Given the description of an element on the screen output the (x, y) to click on. 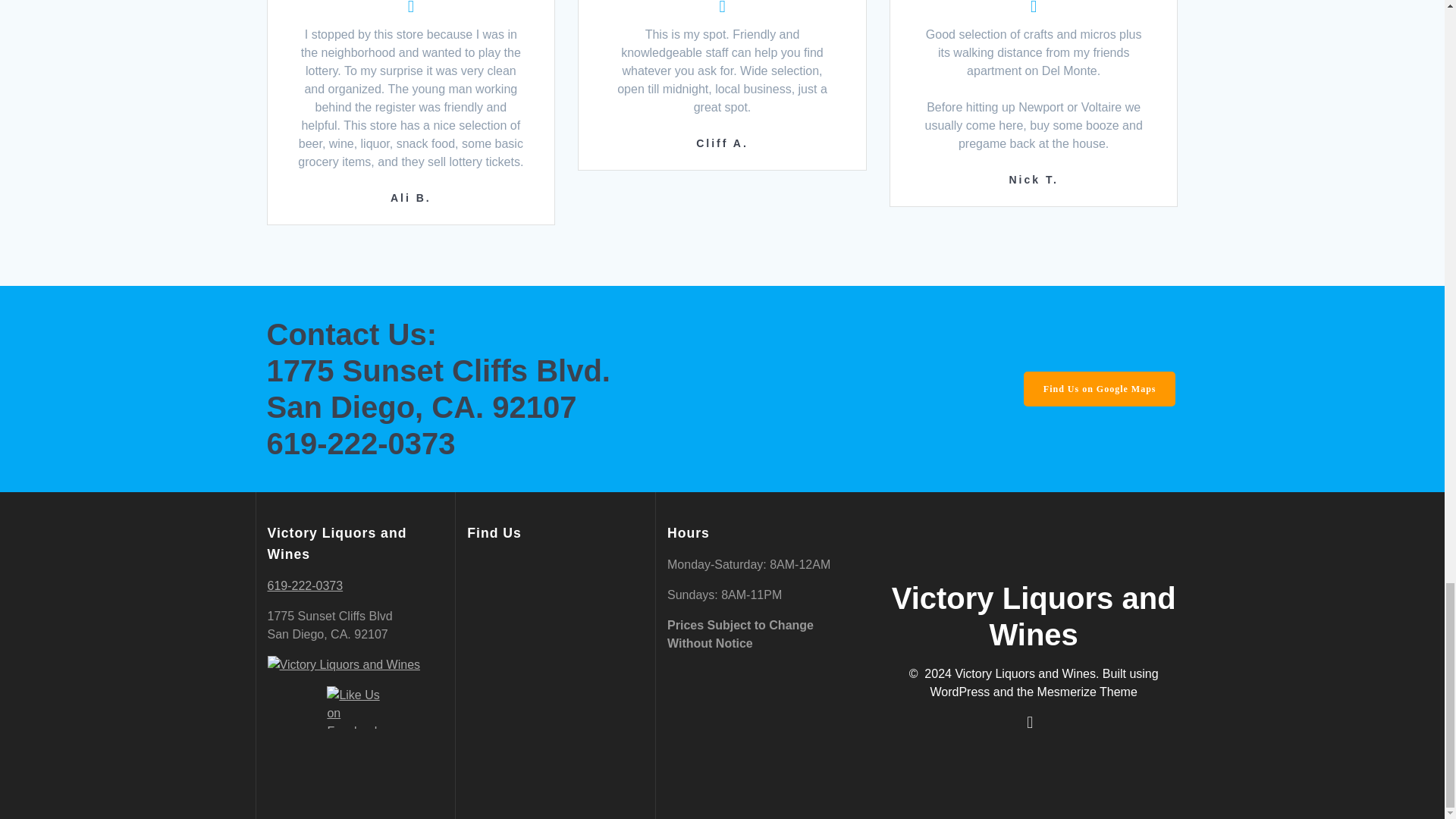
619-222-0373 (304, 585)
Mesmerize Theme (1086, 691)
Find Us on Google Maps (1099, 388)
